Given the description of an element on the screen output the (x, y) to click on. 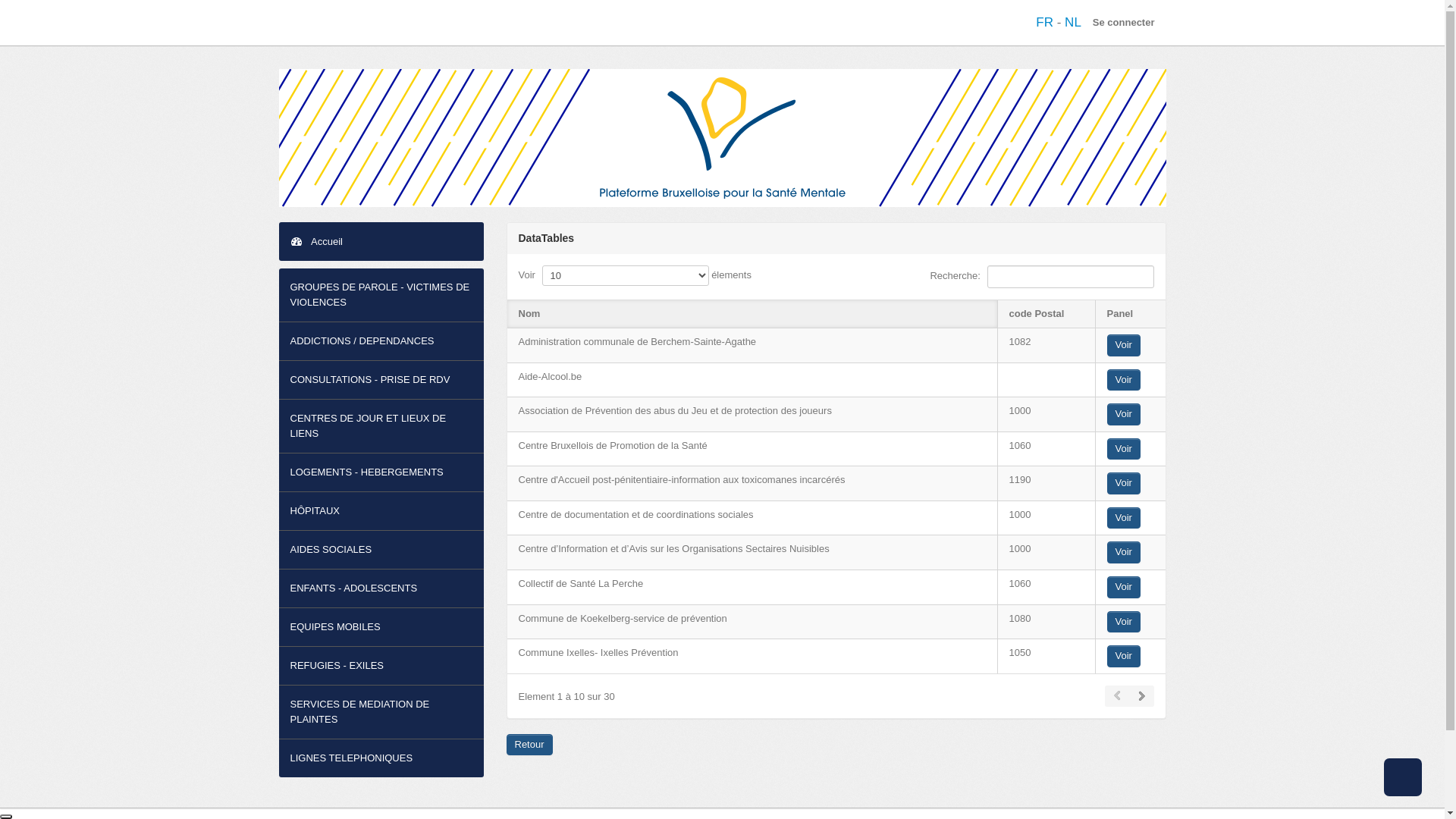
LIGNES TELEPHONIQUES Element type: text (381, 758)
Voir Element type: text (1123, 449)
CENTRES DE JOUR ET LIEUX DE LIENS Element type: text (381, 425)
Voir Element type: text (1123, 345)
Voir Element type: text (1123, 414)
CONSULTATIONS - PRISE DE RDV Element type: text (381, 379)
FR Element type: text (1045, 22)
SERVICES DE MEDIATION DE PLAINTES Element type: text (381, 711)
Voir Element type: text (1123, 552)
Voir Element type: text (1123, 380)
Voir Element type: text (1123, 483)
ADDICTIONS / DEPENDANCES Element type: text (381, 341)
LOGEMENTS - HEBERGEMENTS Element type: text (381, 472)
Se connecter Element type: text (1123, 22)
Accueil Element type: text (381, 241)
ENFANTS - ADOLESCENTS Element type: text (381, 588)
NL Element type: text (1072, 22)
EQUIPES MOBILES Element type: text (381, 627)
REFUGIES - EXILES Element type: text (381, 665)
Voir Element type: text (1123, 656)
AIDES SOCIALES Element type: text (381, 549)
GROUPES DE PAROLE - VICTIMES DE VIOLENCES Element type: text (381, 294)
Voir Element type: text (1123, 587)
Voir Element type: text (1123, 518)
Retour Element type: text (529, 745)
Voir Element type: text (1123, 622)
